Given the description of an element on the screen output the (x, y) to click on. 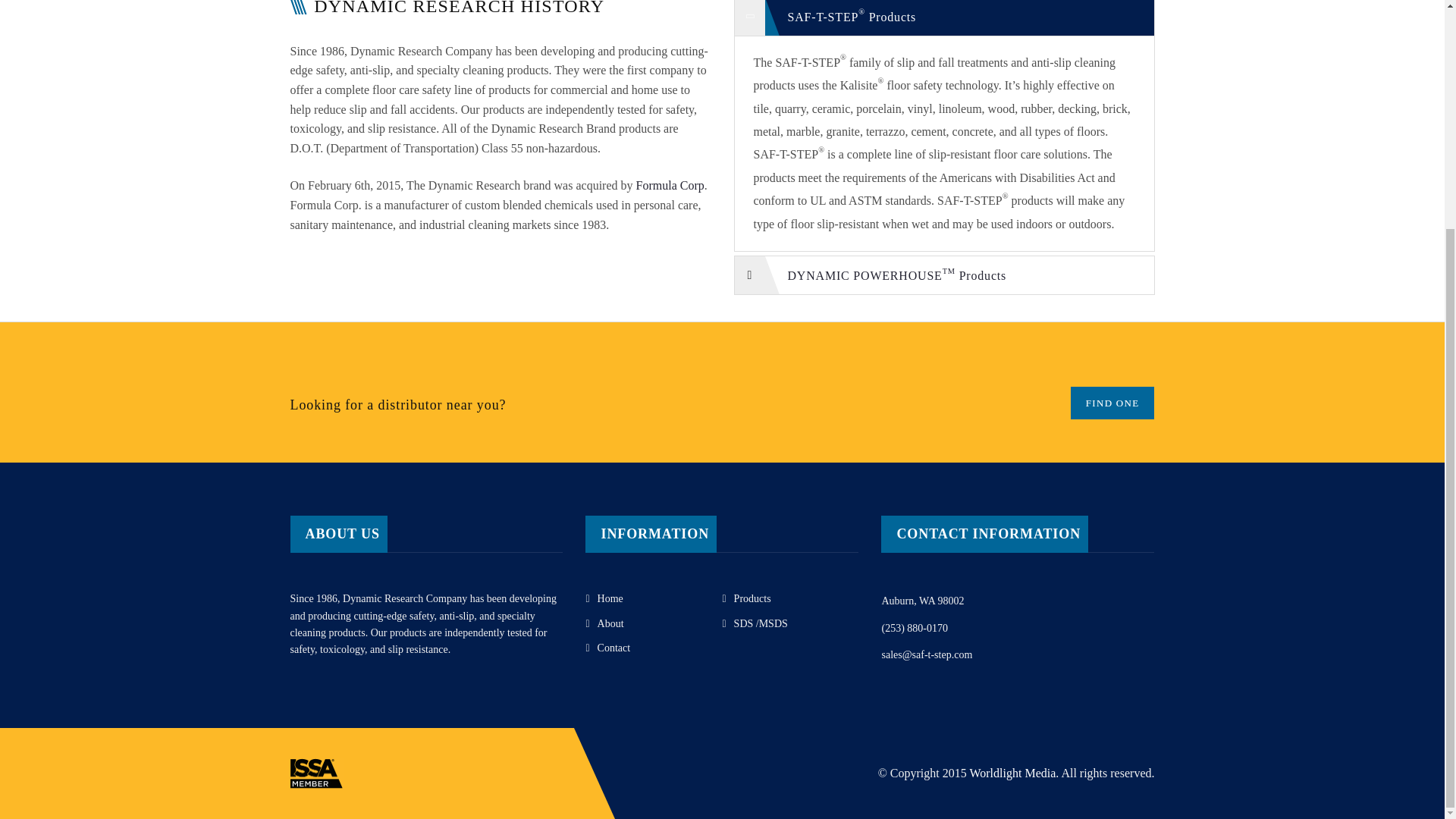
Products (746, 598)
Formula Corp (670, 185)
FIND ONE (1112, 402)
DYNAMIC POWERHOUSETM Products (943, 270)
Home (604, 598)
About (604, 623)
Worldlight Media (1012, 772)
Contact (607, 647)
